Given the description of an element on the screen output the (x, y) to click on. 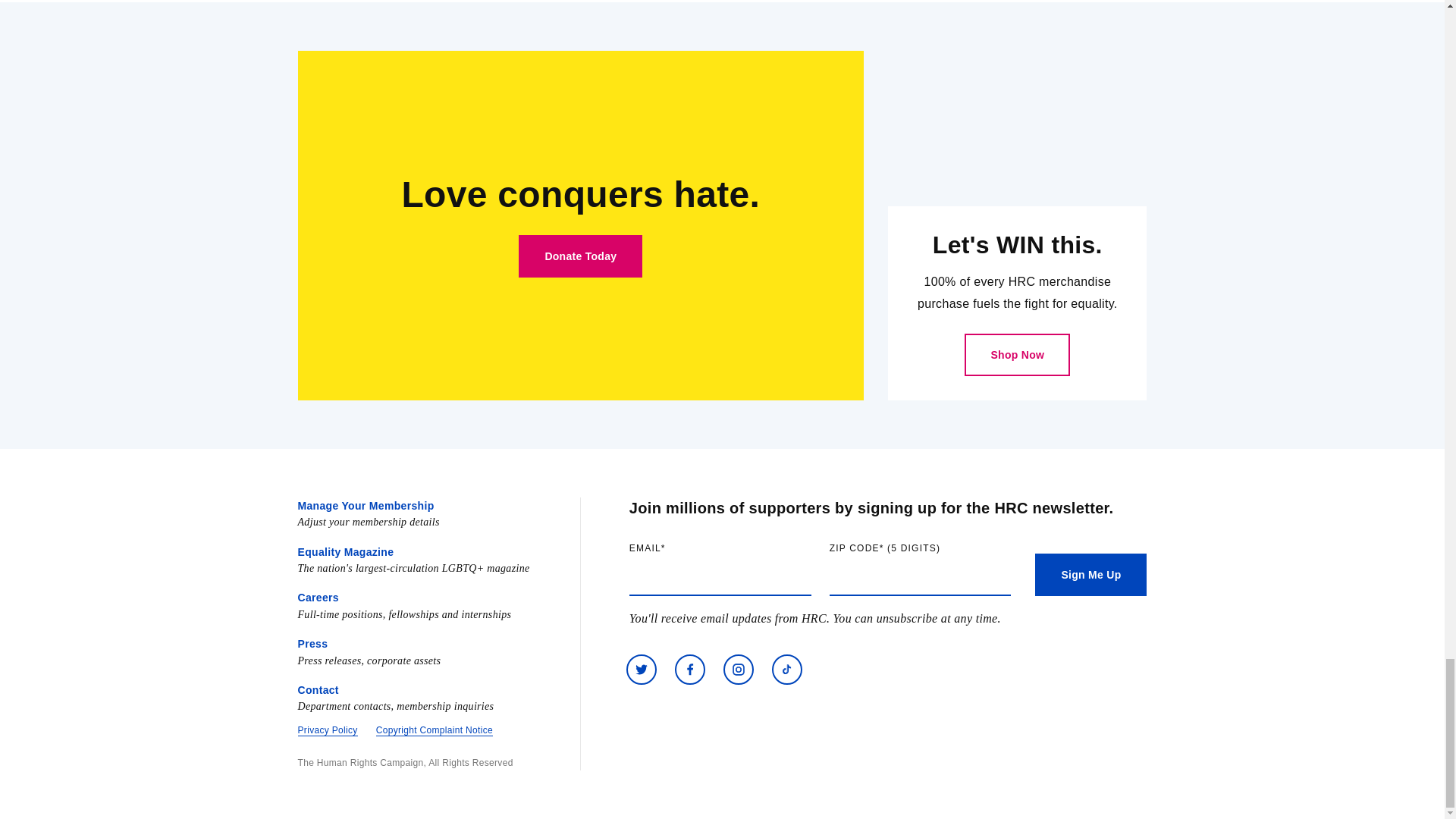
Sign Me Up (1091, 574)
Donate Today (580, 256)
Shop Now (1016, 354)
twitter (641, 669)
